Given the description of an element on the screen output the (x, y) to click on. 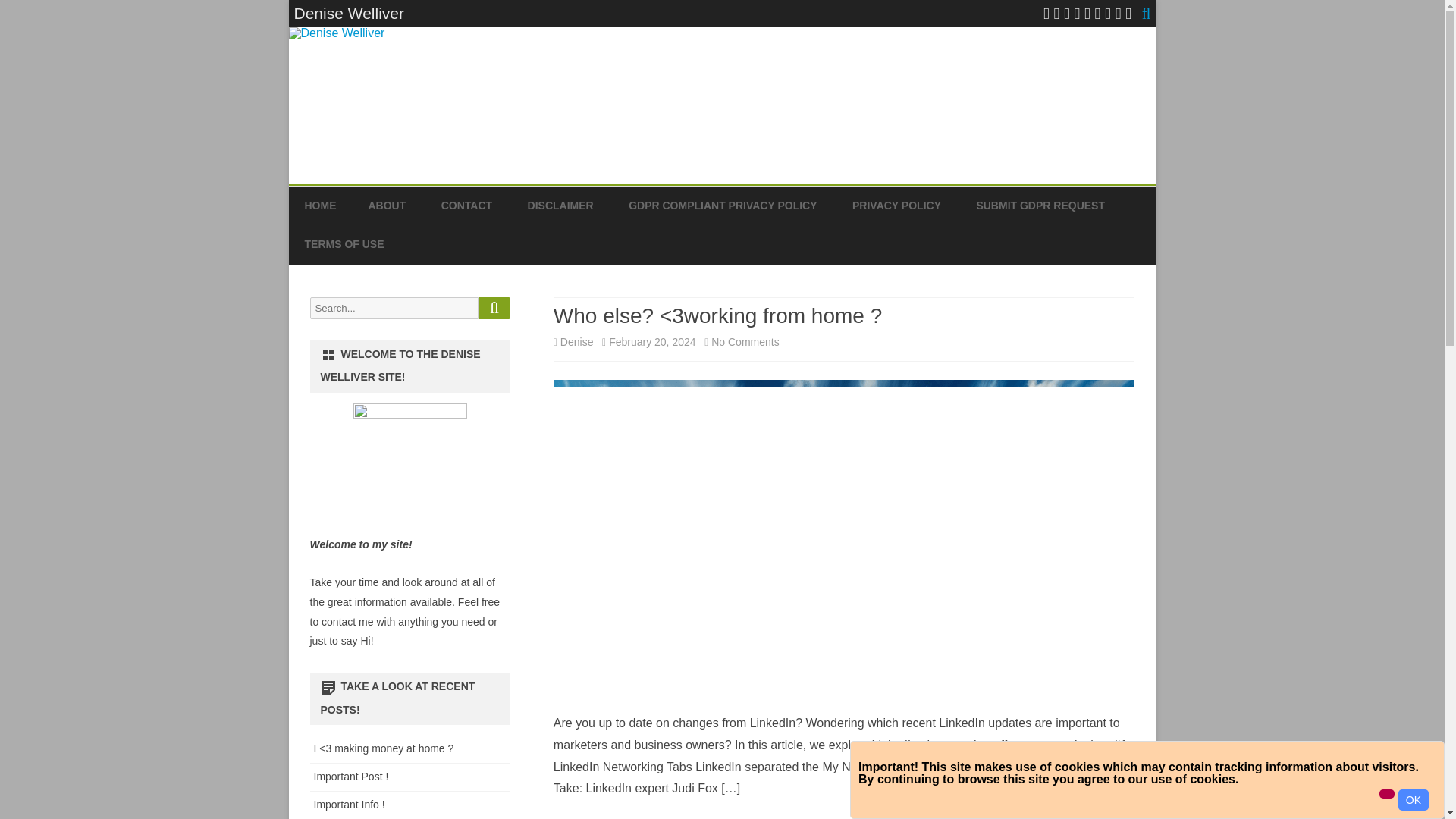
TERMS OF USE (344, 244)
CONTACT (466, 206)
DISCLAIMER (560, 206)
SUBMIT GDPR REQUEST (1040, 206)
PRIVACY POLICY (895, 206)
ABOUT (387, 206)
Denise (577, 341)
GDPR COMPLIANT PRIVACY POLICY (722, 206)
